Given the description of an element on the screen output the (x, y) to click on. 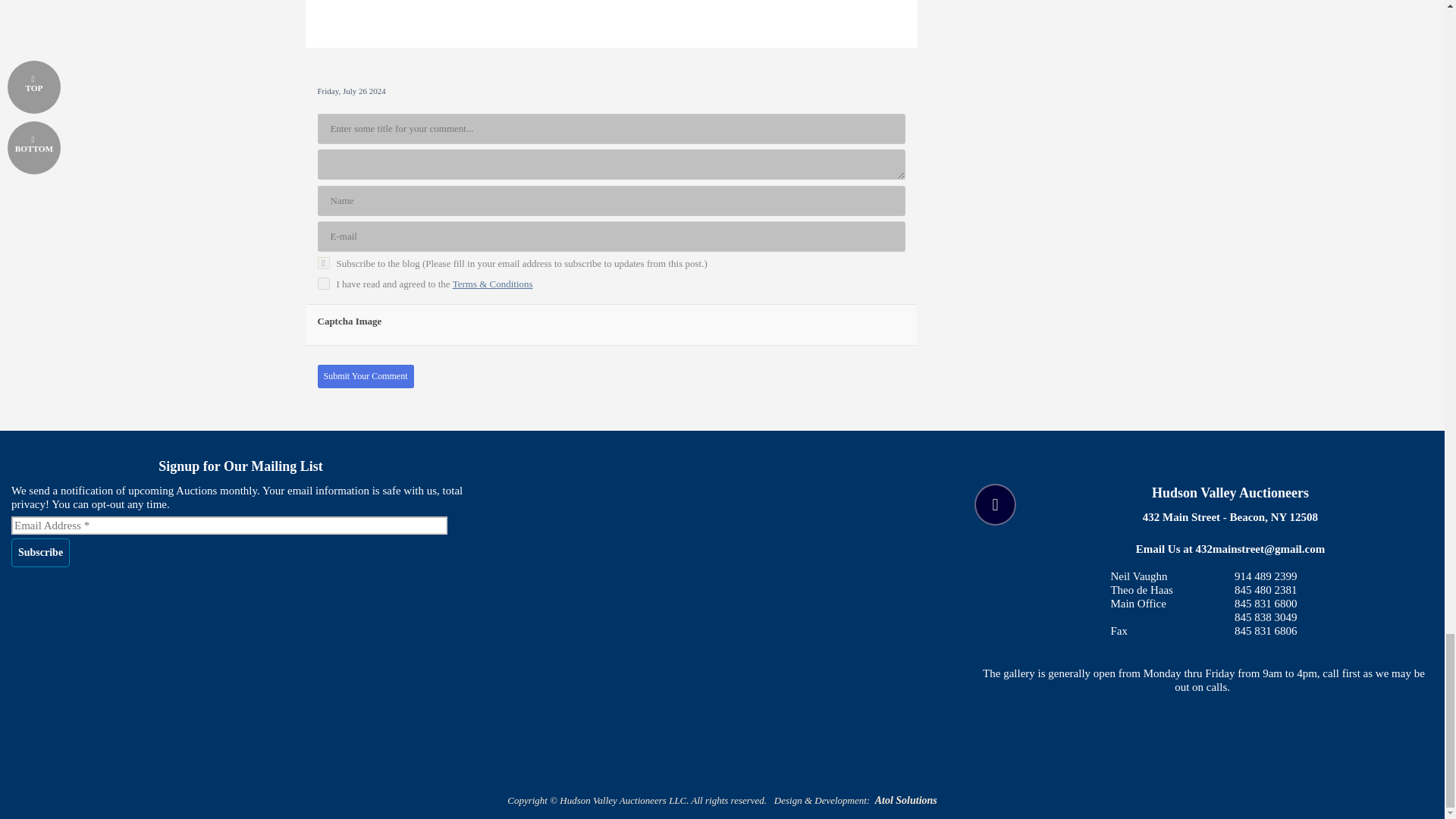
Subscribe (1203, 457)
